Given the description of an element on the screen output the (x, y) to click on. 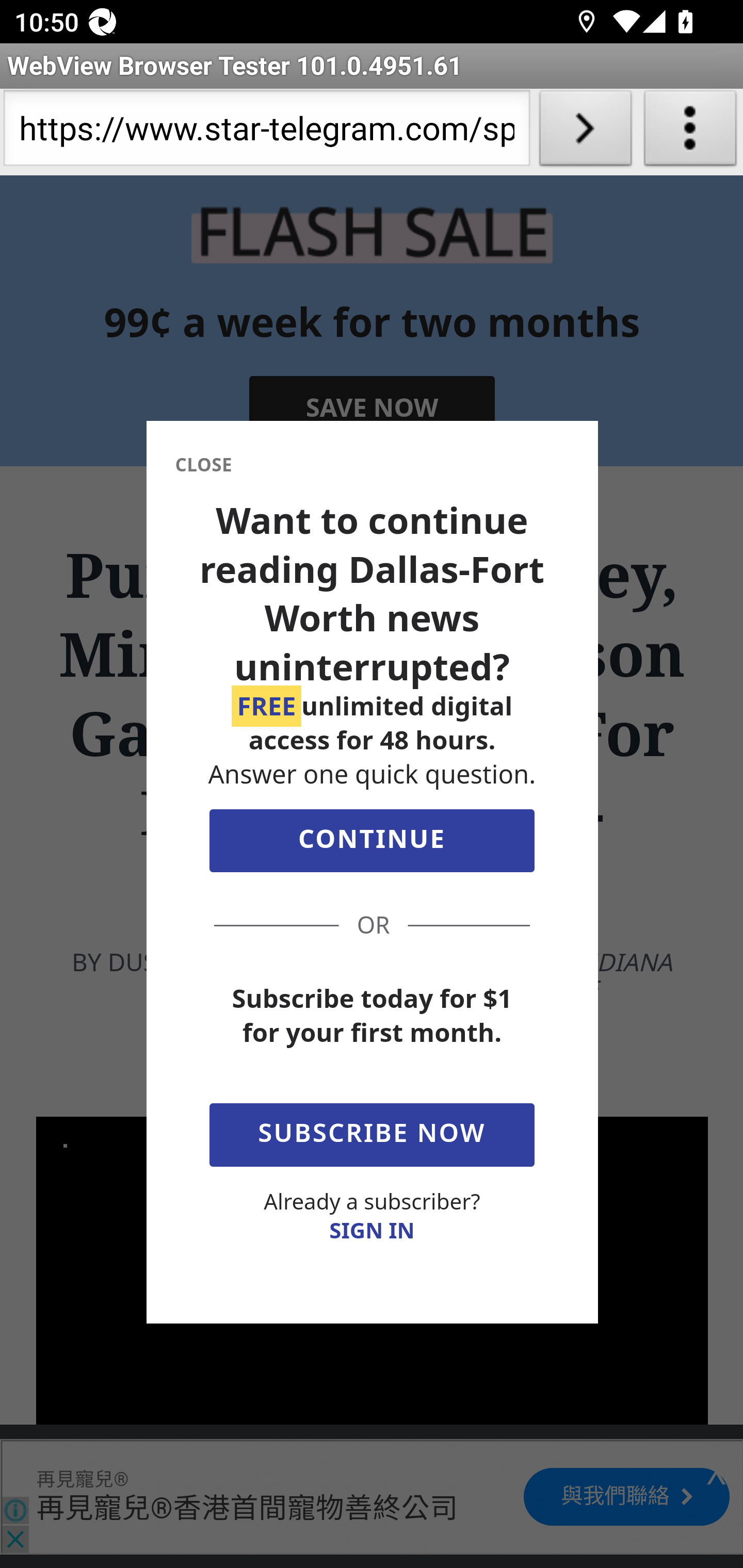
Load URL (585, 132)
About WebView (690, 132)
CLOSE (203, 466)
CONTINUE (371, 846)
SUBSCRIBE NOW (371, 1131)
SIGN IN (371, 1231)
